Given the description of an element on the screen output the (x, y) to click on. 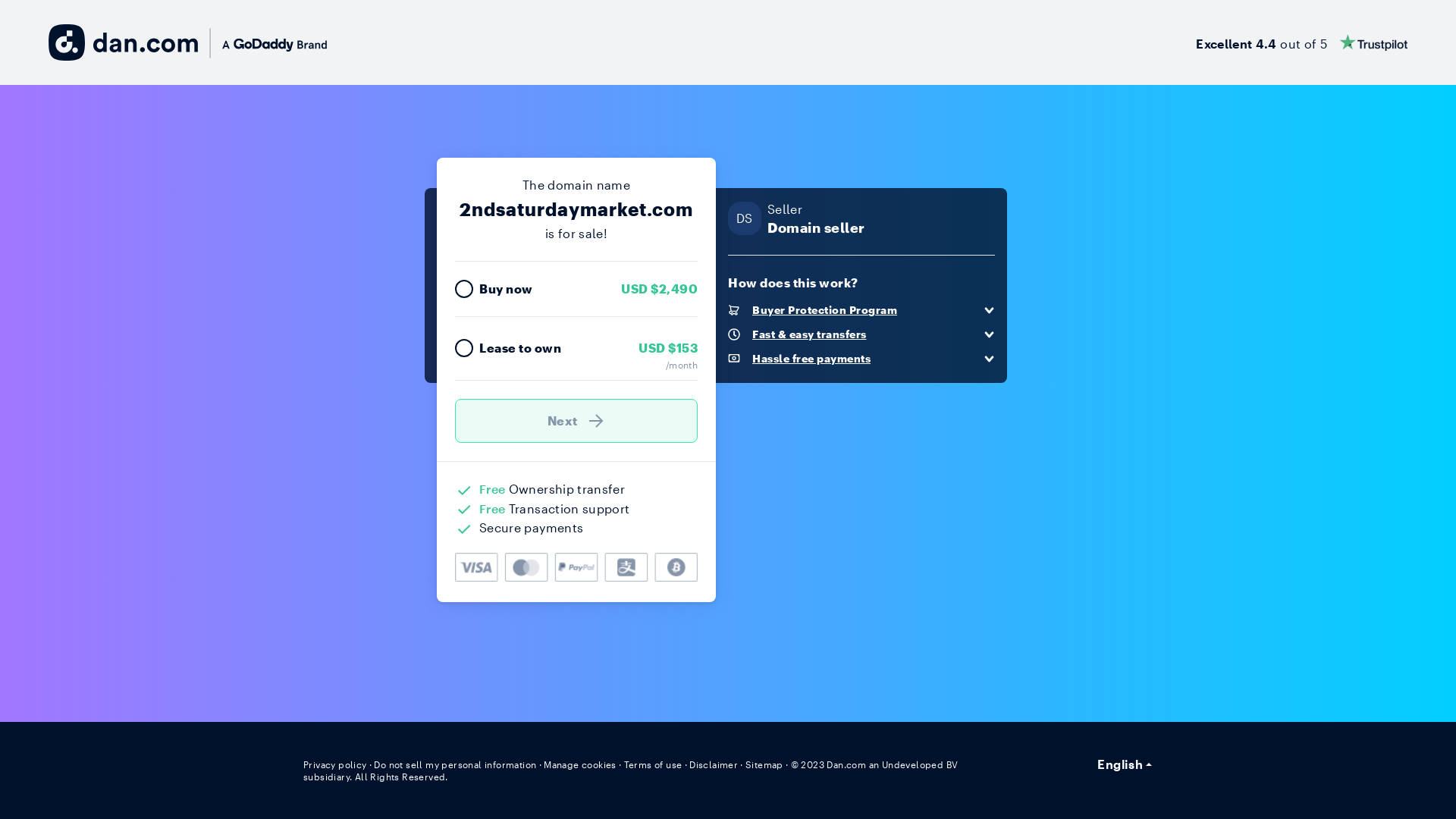
Excellent 4.4 out of 5 Element type: text (1301, 42)
Do not sell my personal information Element type: text (454, 764)
Disclaimer Element type: text (713, 764)
Sitemap Element type: text (764, 764)
Terms of use Element type: text (653, 764)
Manage cookies Element type: text (579, 764)
Privacy policy Element type: text (335, 764)
Next
) Element type: text (576, 420)
English Element type: text (1124, 764)
